Given the description of an element on the screen output the (x, y) to click on. 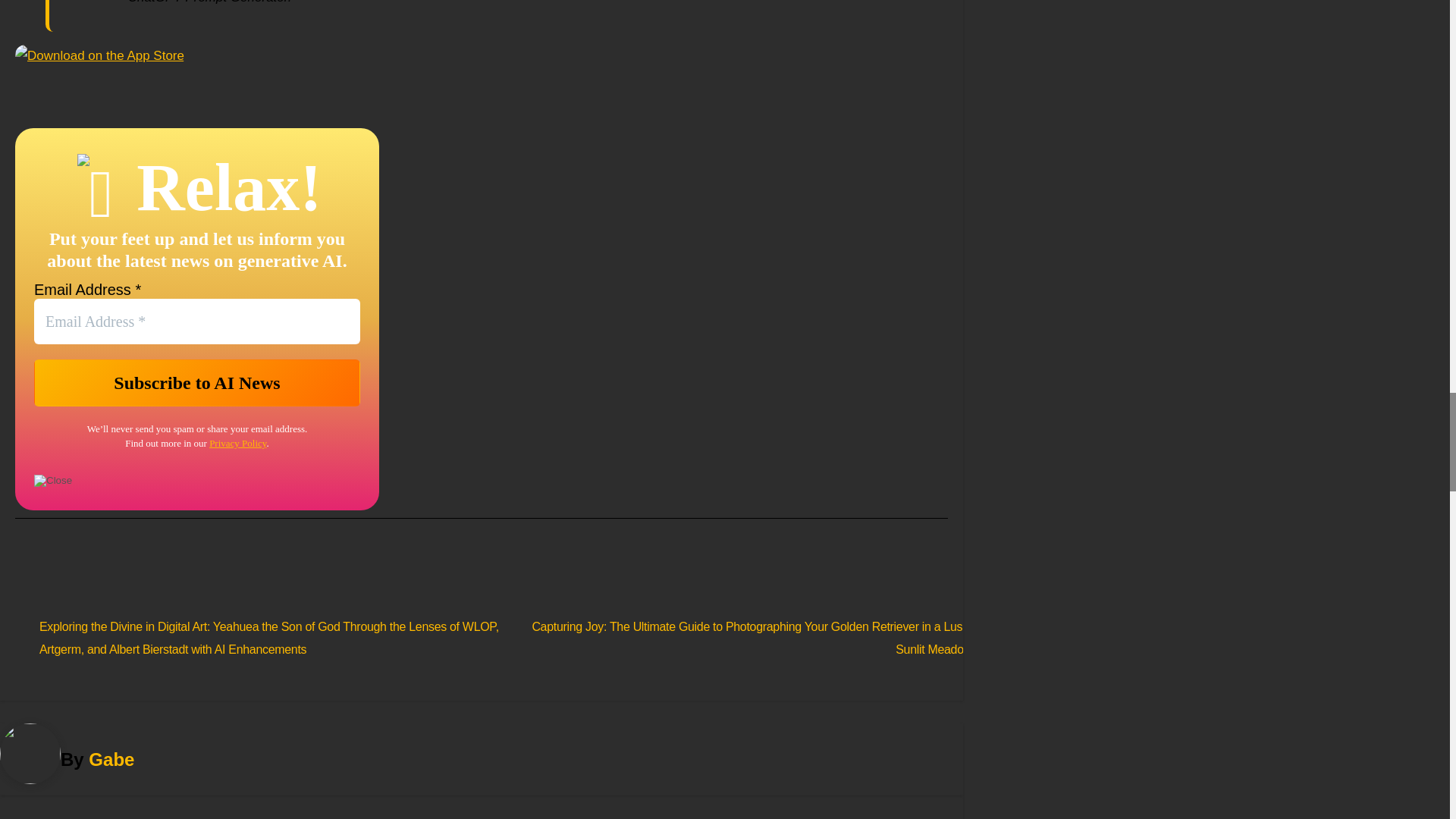
Subscribe to AI News (196, 382)
Privacy Policy (237, 442)
Subscribe to AI News (196, 382)
